Given the description of an element on the screen output the (x, y) to click on. 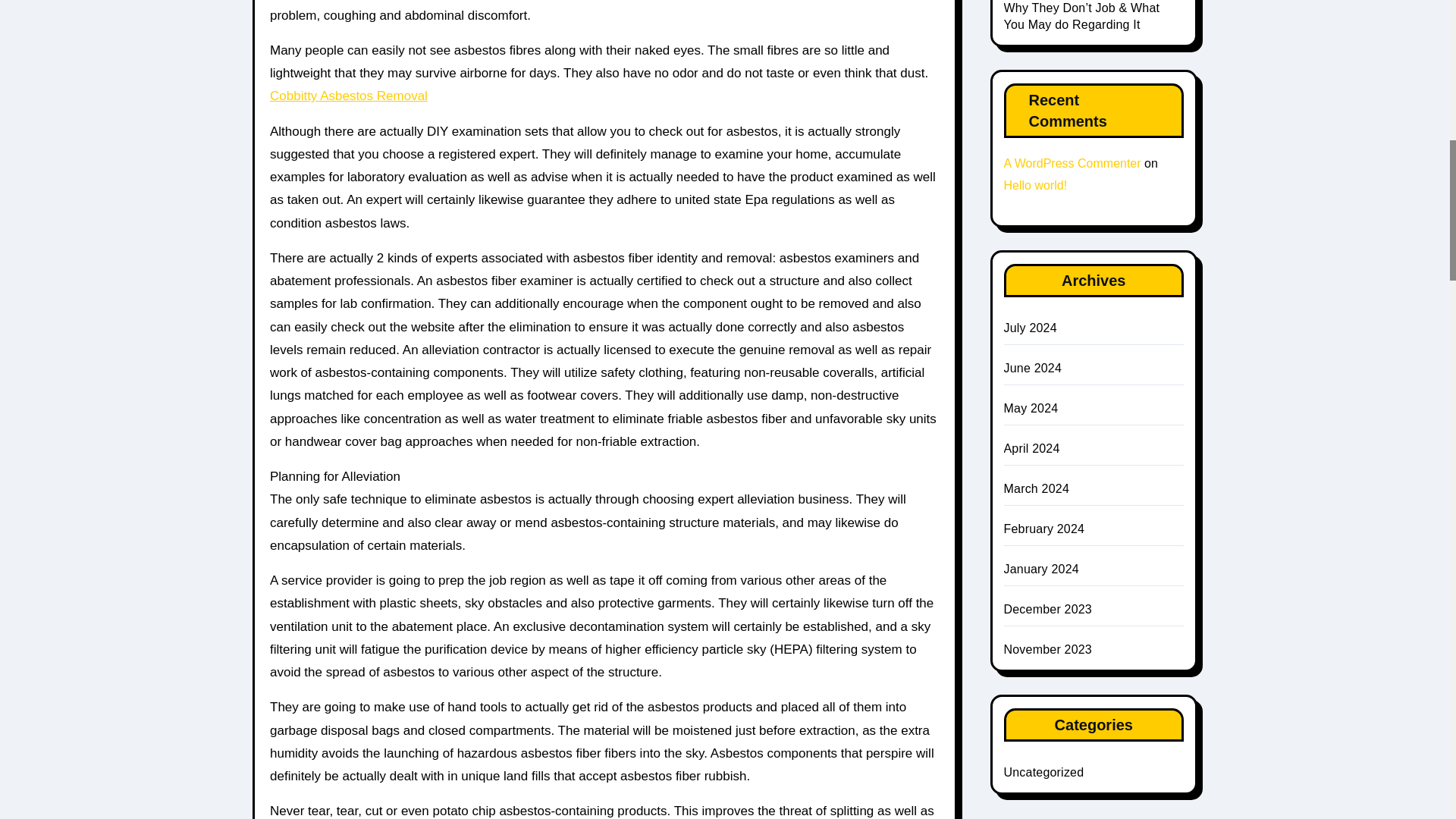
Cobbitty Asbestos Removal (348, 95)
